Given the description of an element on the screen output the (x, y) to click on. 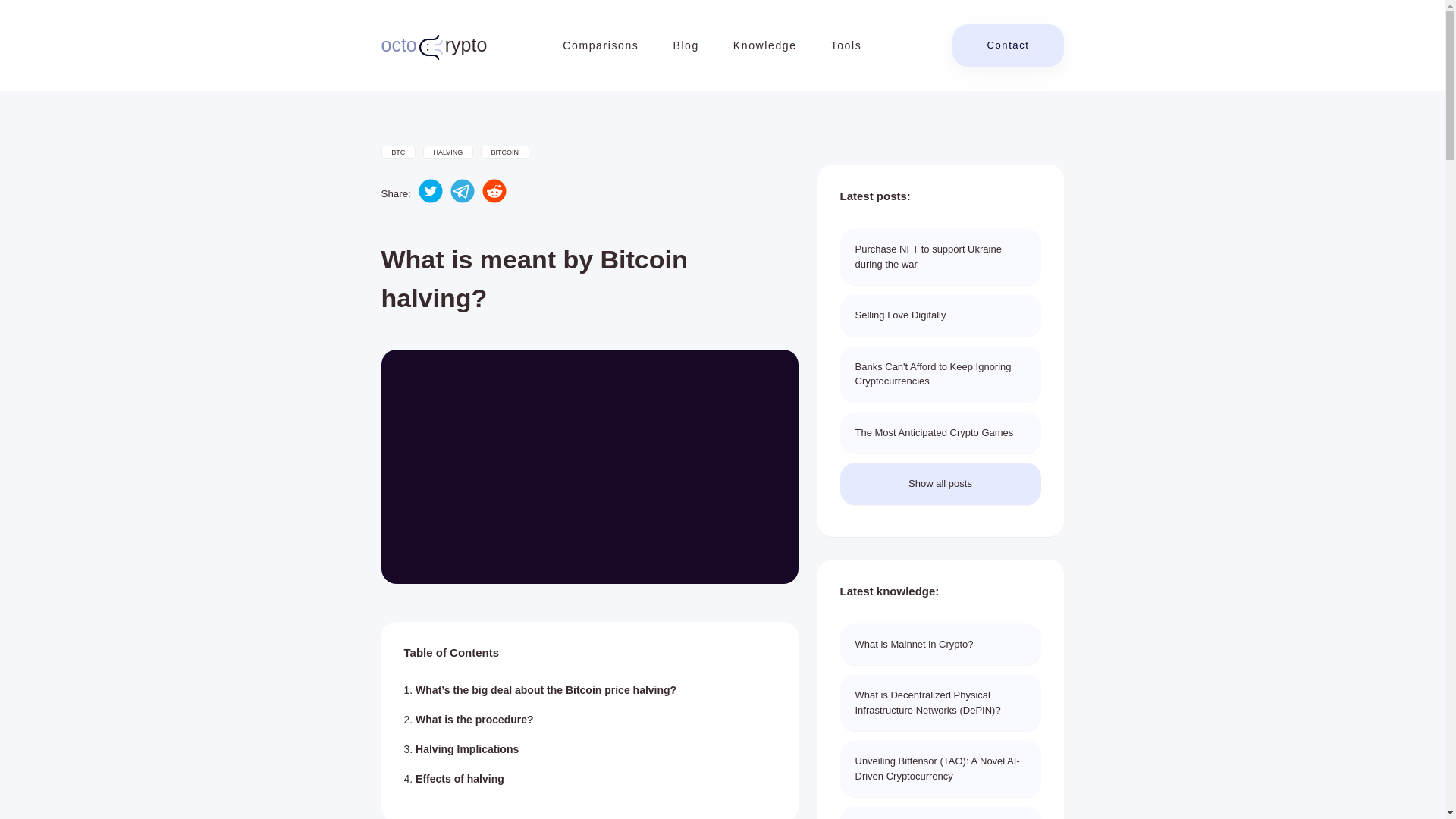
HALVING (448, 151)
The Most Anticipated Crypto Games (940, 432)
Tools (846, 45)
Exploring the Celestia Ecosystem and Its Native Token TIA (940, 812)
Show all posts (433, 45)
Halving Implications (940, 483)
Comparisons (466, 748)
Knowledge (600, 45)
Purchase NFT to support Ukraine during the war (764, 45)
BTC (940, 256)
Banks Can't Afford to Keep Ignoring Cryptocurrencies (397, 151)
What is Mainnet in Crypto? (940, 373)
Selling Love Digitally (940, 644)
BITCOIN (940, 315)
